Given the description of an element on the screen output the (x, y) to click on. 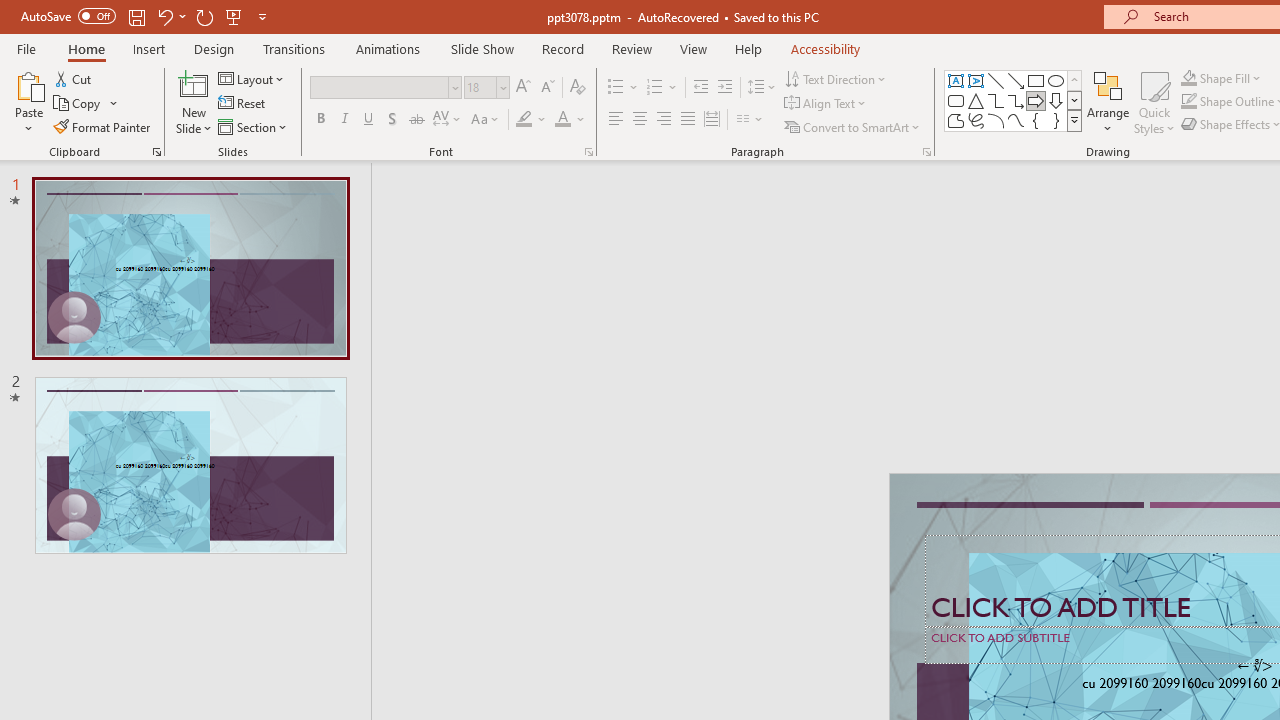
TextBox 7 (1254, 666)
